Given the description of an element on the screen output the (x, y) to click on. 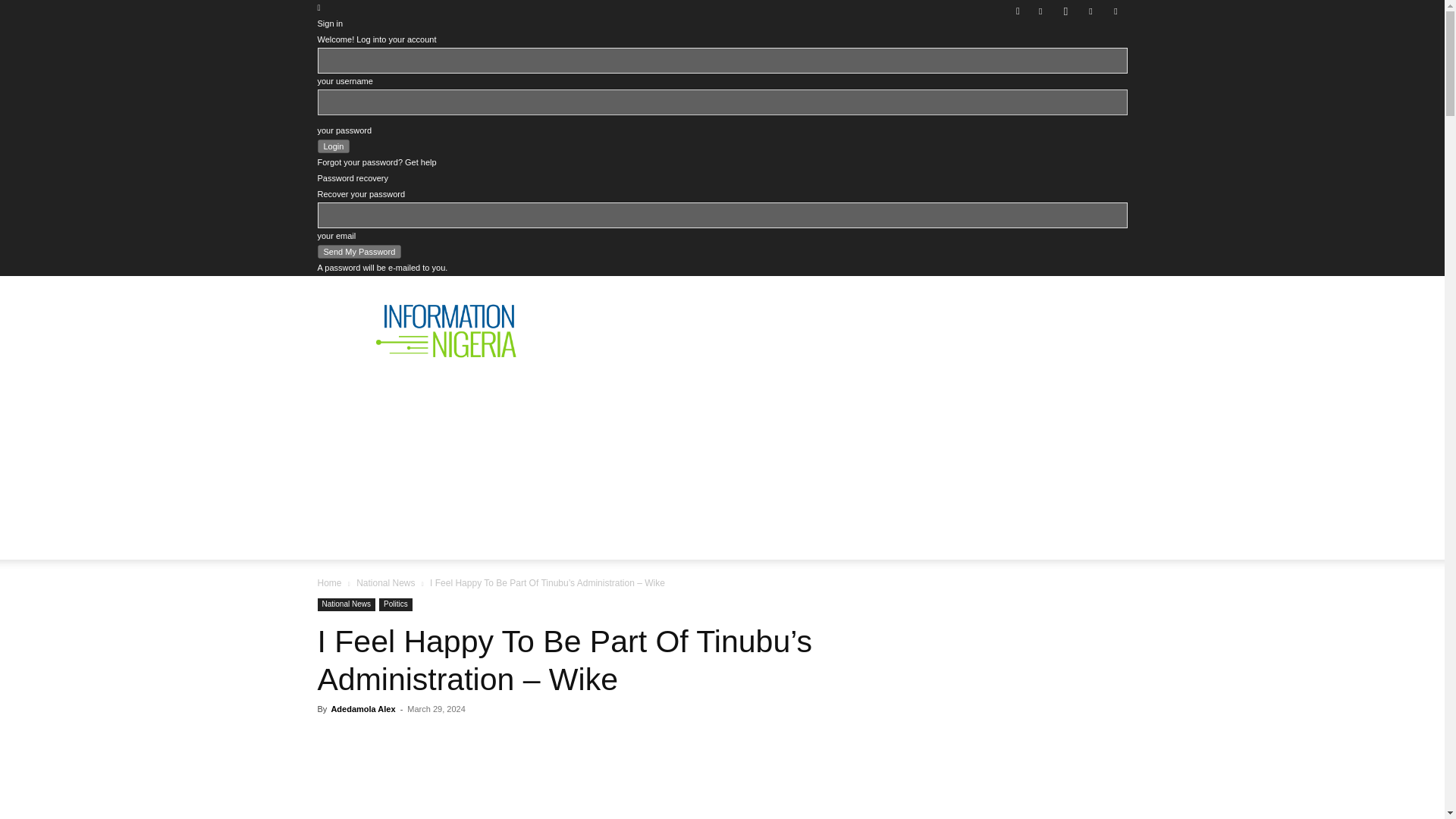
NATIONAL NEWS (444, 491)
BBC PIDGIN (779, 491)
Search (1085, 64)
Forgot your password? Get help (376, 162)
Login (333, 146)
Nigeria News, Nigerian Newspaper (446, 331)
HOME (347, 491)
Facebook (1040, 10)
SPORTS (974, 491)
Youtube (1114, 10)
Twitter (1090, 10)
Send My Password (359, 251)
POLITICS (551, 491)
Instagram (1065, 10)
SPECIAL REPORTS (660, 491)
